Given the description of an element on the screen output the (x, y) to click on. 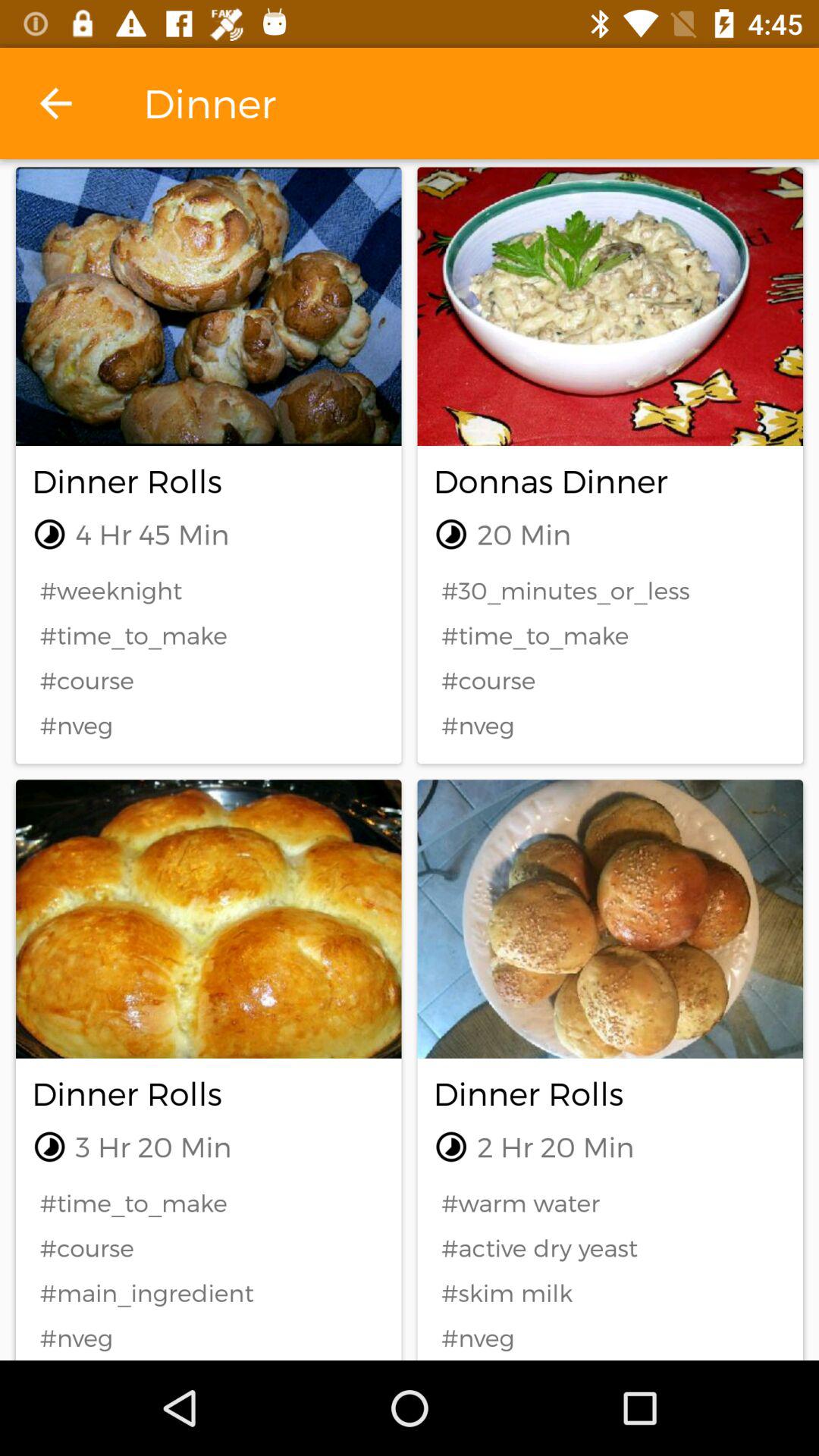
turn off the item below #course item (208, 1292)
